Given the description of an element on the screen output the (x, y) to click on. 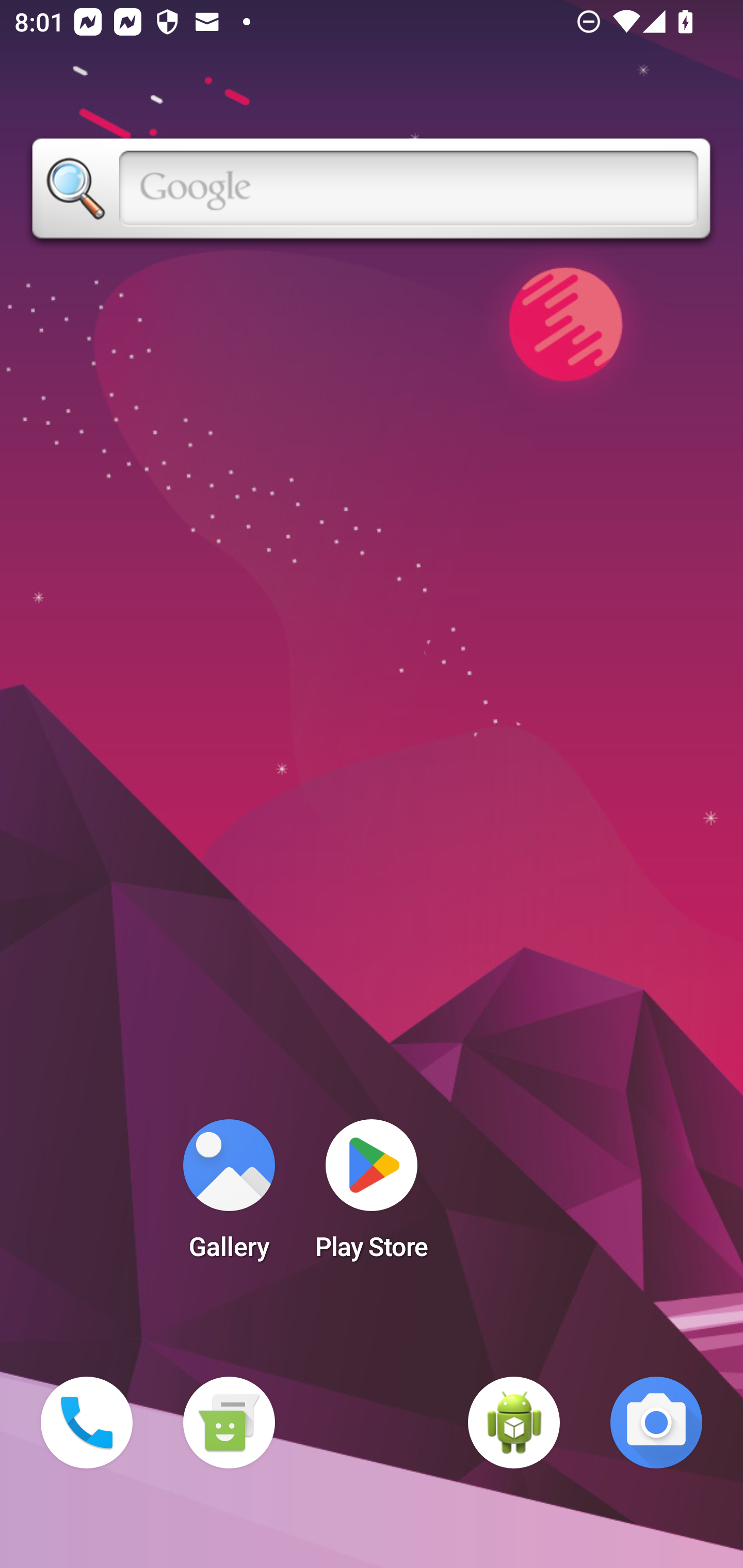
Gallery (228, 1195)
Play Store (371, 1195)
Phone (86, 1422)
Messaging (228, 1422)
WebView Browser Tester (513, 1422)
Camera (656, 1422)
